Given the description of an element on the screen output the (x, y) to click on. 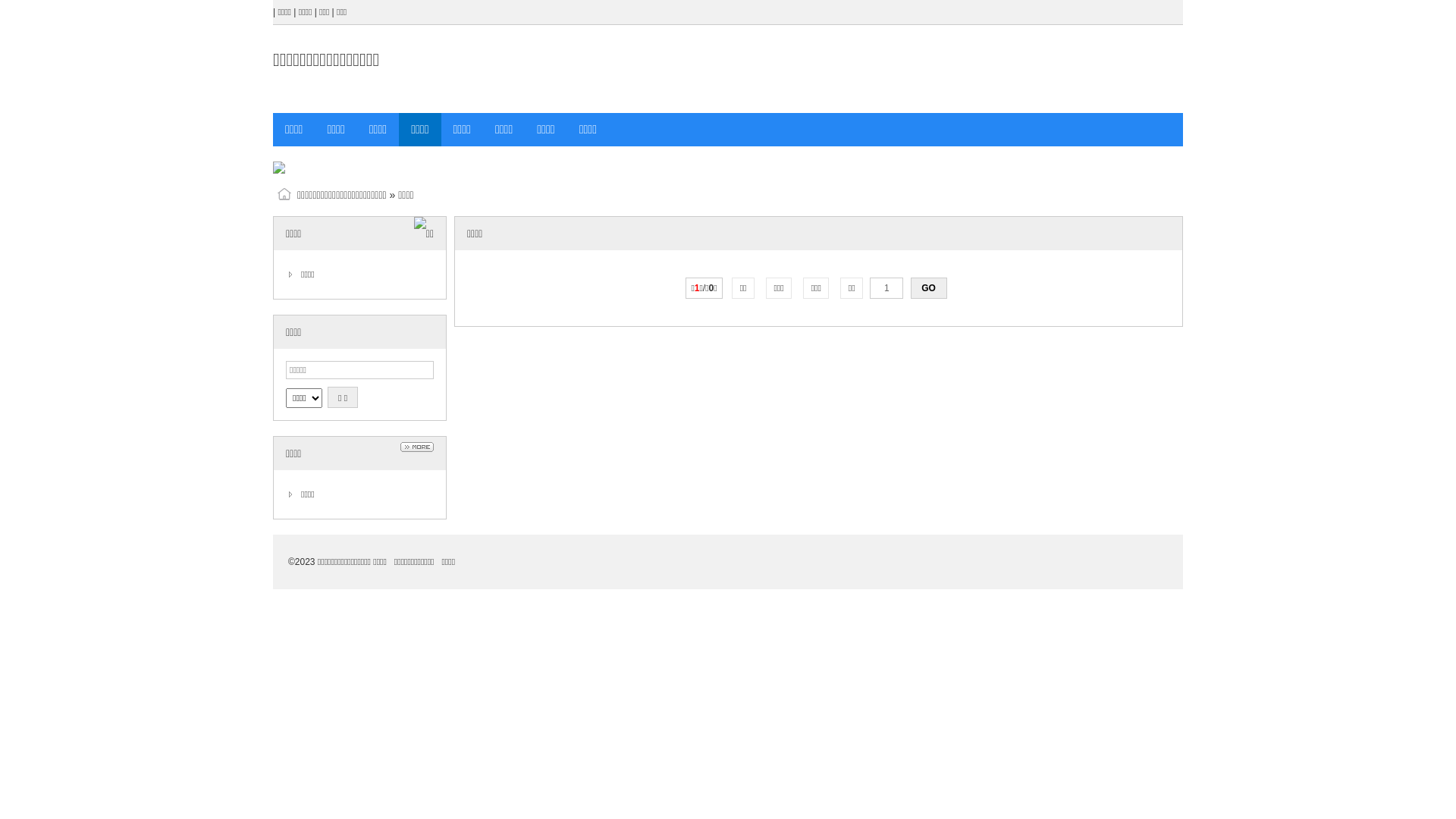
GO Element type: text (928, 287)
